Given the description of an element on the screen output the (x, y) to click on. 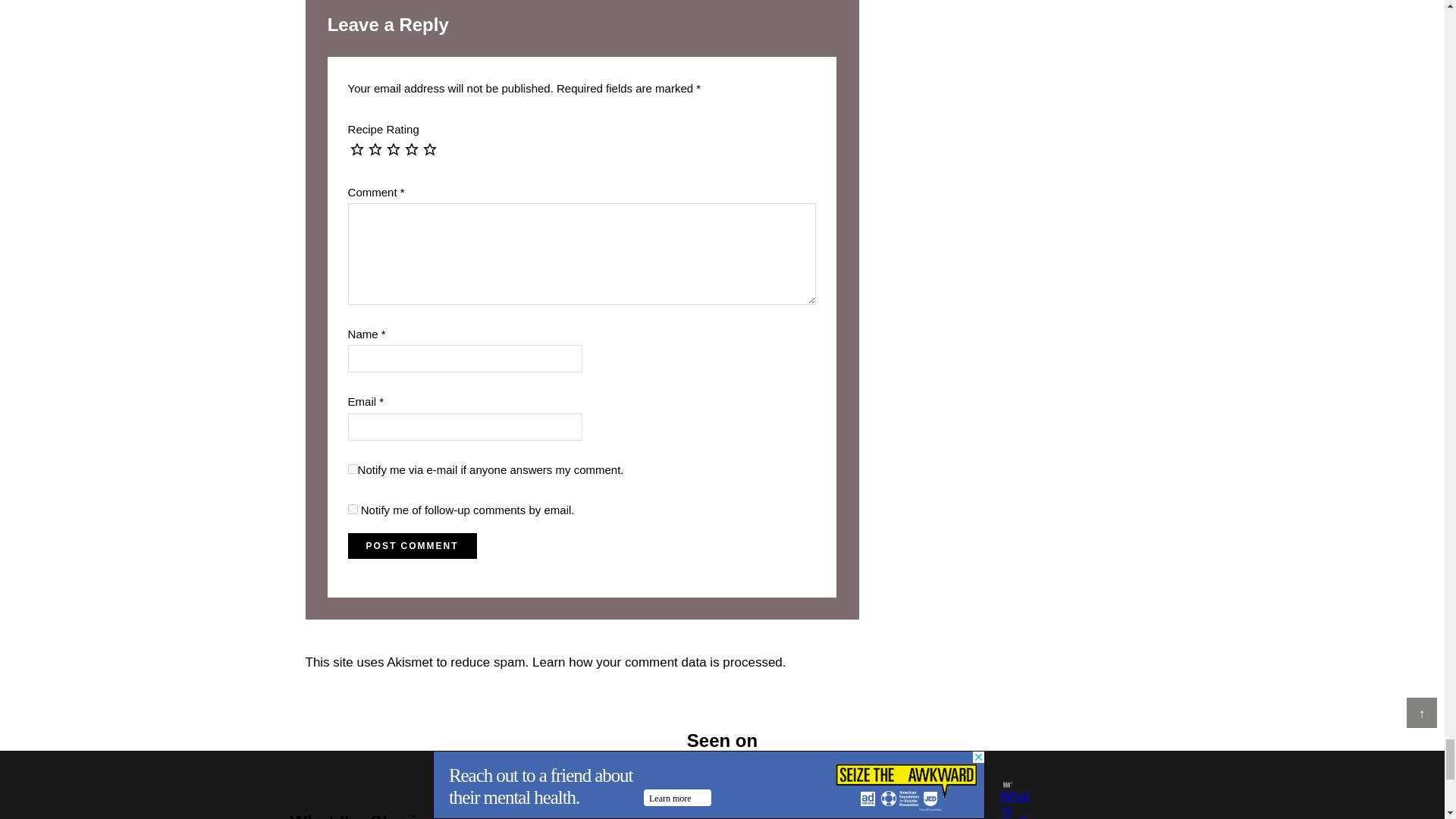
Post Comment (412, 545)
on (352, 469)
subscribe (352, 509)
